Given the description of an element on the screen output the (x, y) to click on. 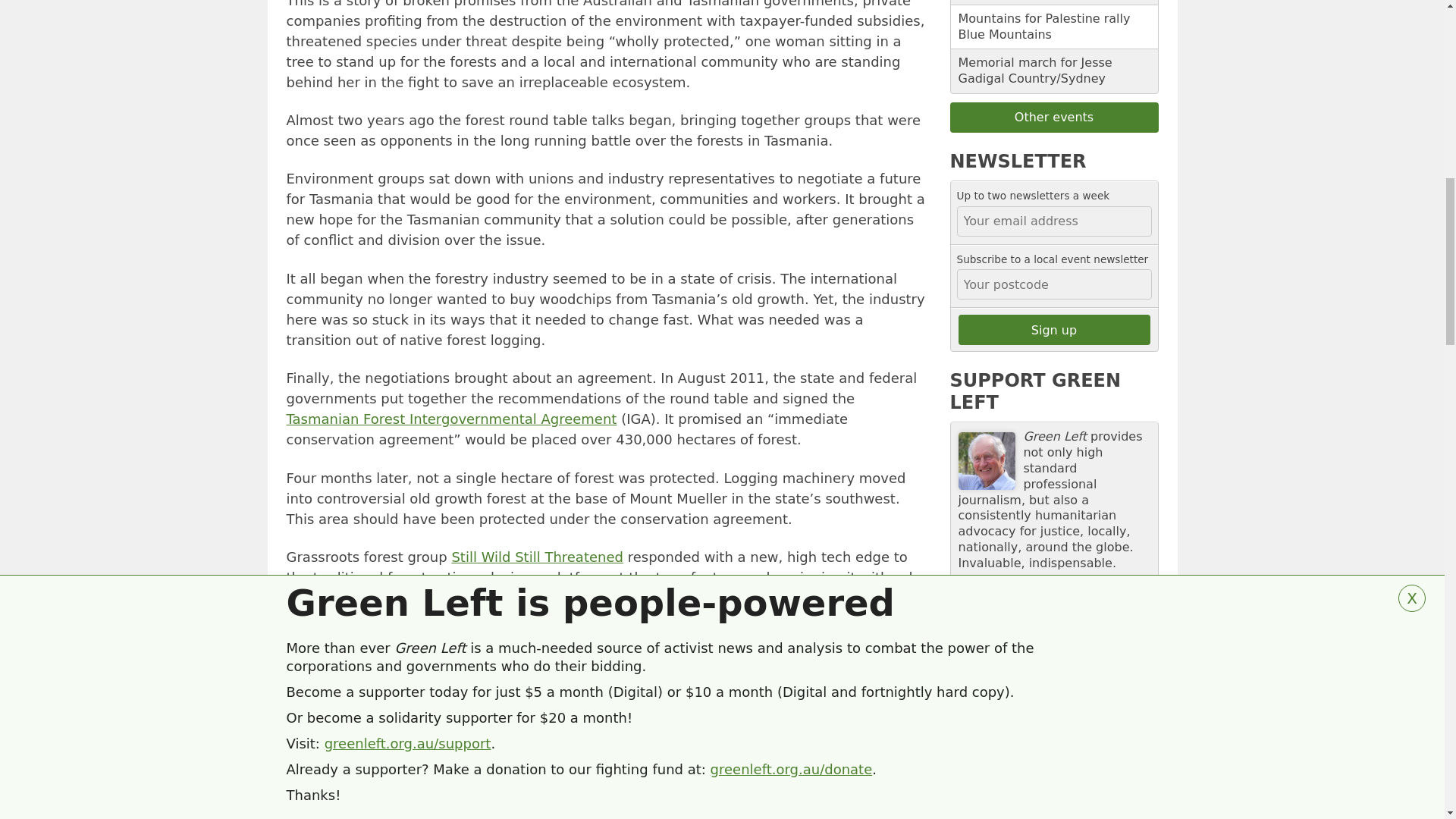
Sign up (1054, 329)
